Given the description of an element on the screen output the (x, y) to click on. 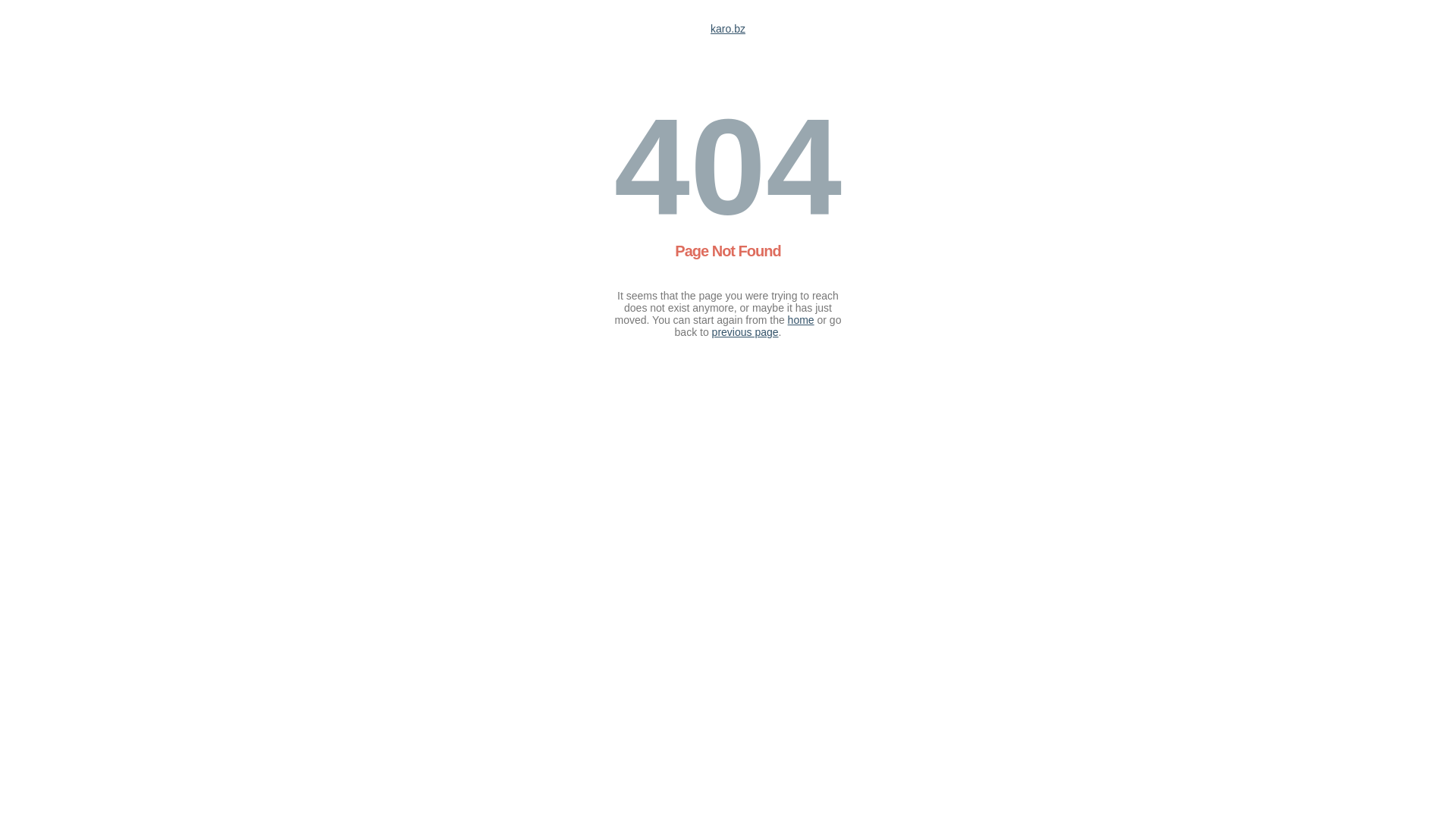
karo.bz Element type: text (727, 28)
previous page Element type: text (745, 332)
home Element type: text (800, 319)
